Given the description of an element on the screen output the (x, y) to click on. 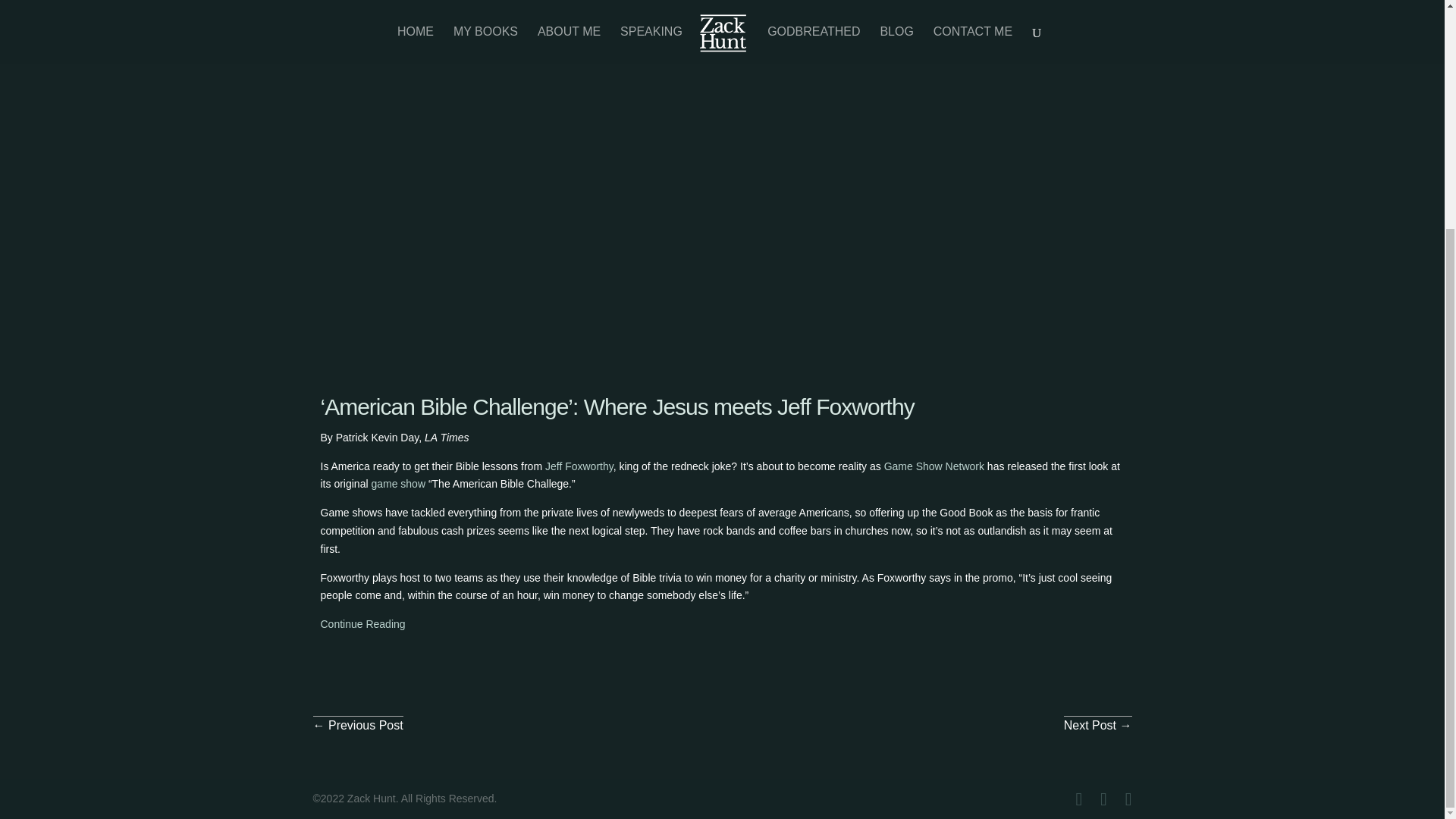
game show (398, 483)
Jeff Foxworthy (578, 466)
Continue Reading (362, 623)
Game Show Network (933, 466)
Jeff Foxworthy (578, 466)
